Given the description of an element on the screen output the (x, y) to click on. 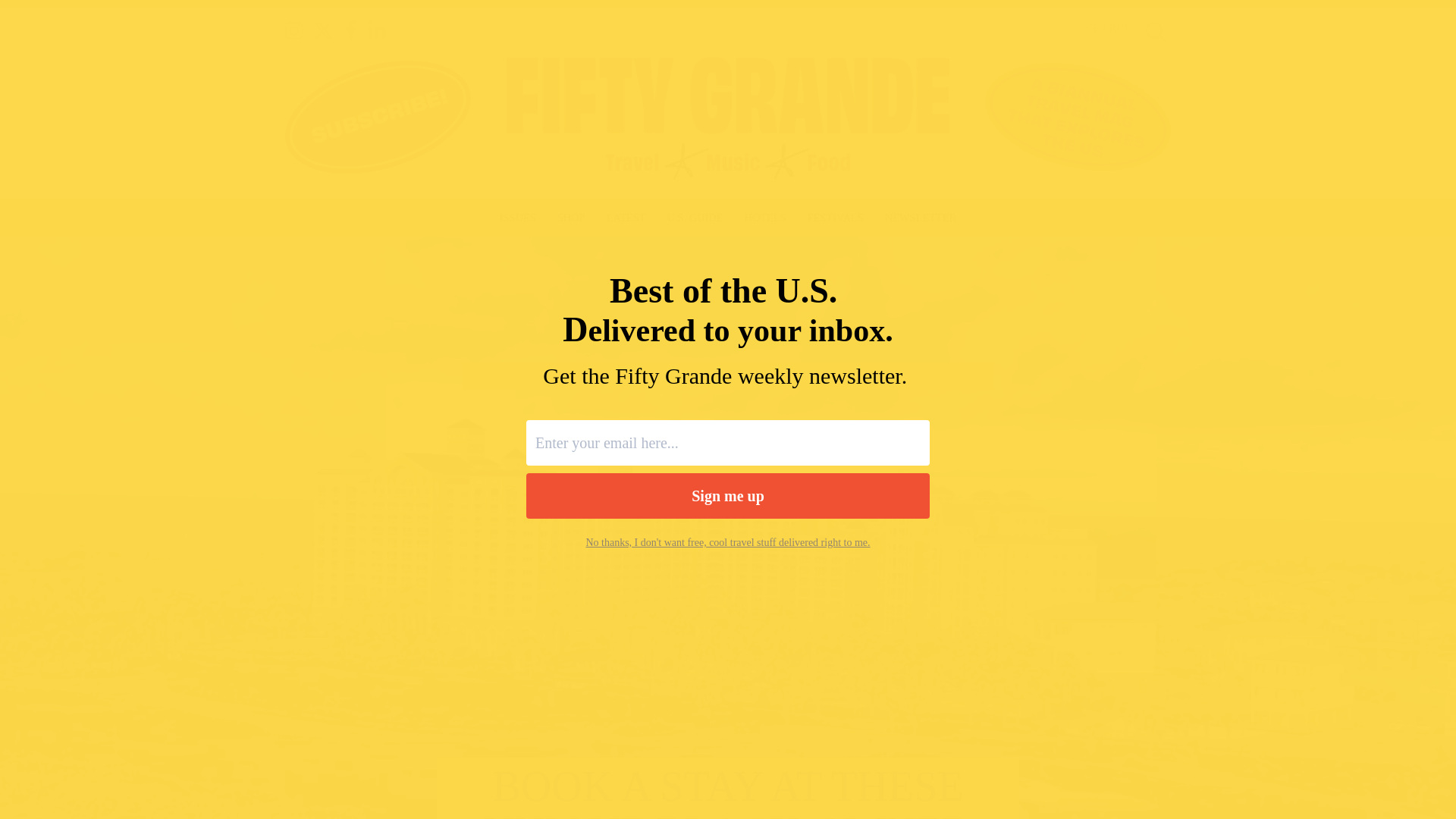
SHOP (571, 218)
HOTELS (765, 218)
NEWSLETTER (920, 218)
LATEST (626, 218)
U.S. GUIDE (694, 218)
ISSUES (517, 218)
FESTIVALS (835, 218)
Sign me up (727, 495)
